Given the description of an element on the screen output the (x, y) to click on. 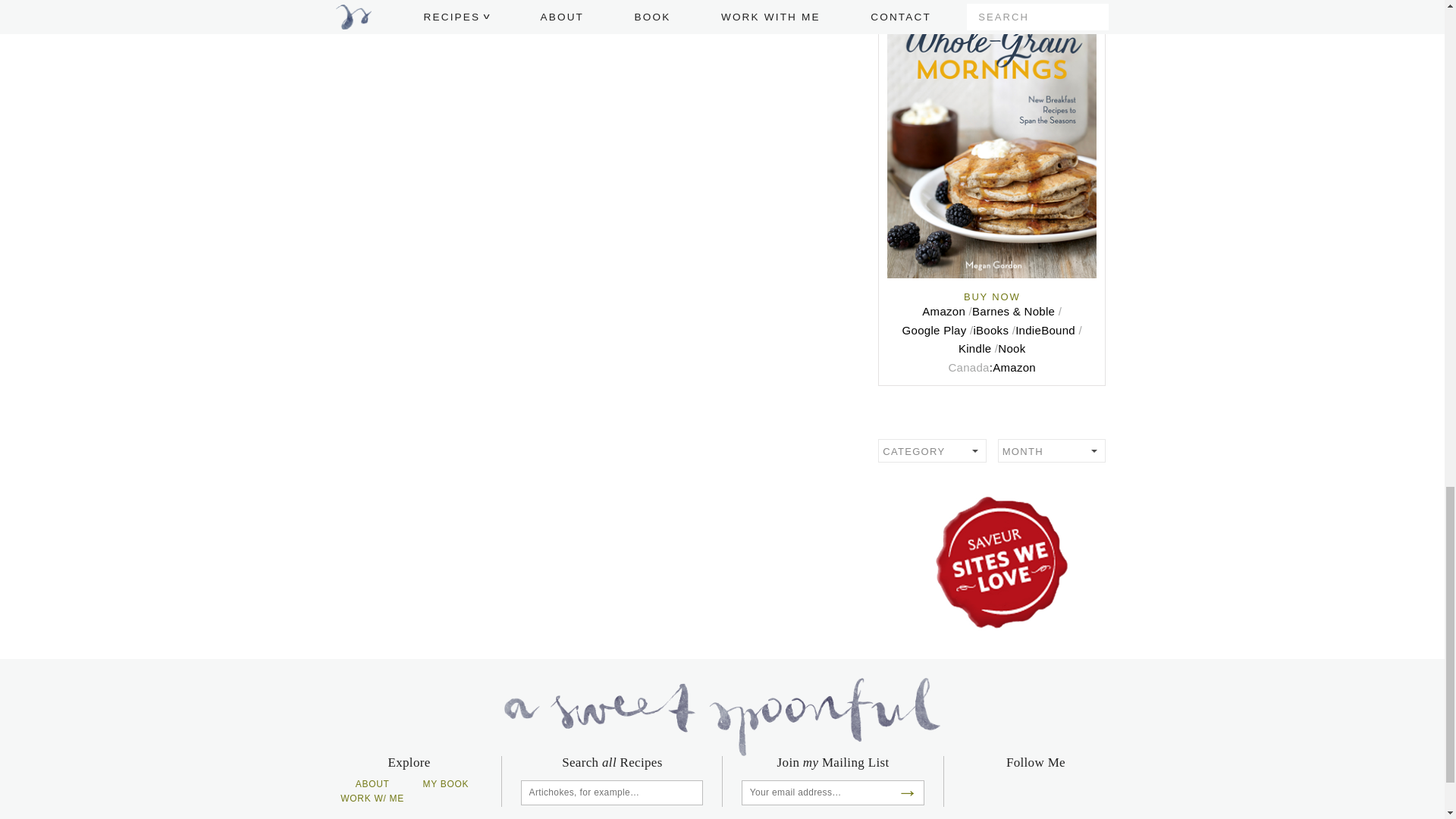
Twitter Facebook (1049, 791)
Submit (691, 792)
RSS Facebook (1022, 791)
Explore (991, 421)
Instagram Facebook (1100, 791)
Facebook Facebook (970, 791)
Pinterest Facebook (996, 791)
Google Plus Facebook (1075, 791)
